Given the description of an element on the screen output the (x, y) to click on. 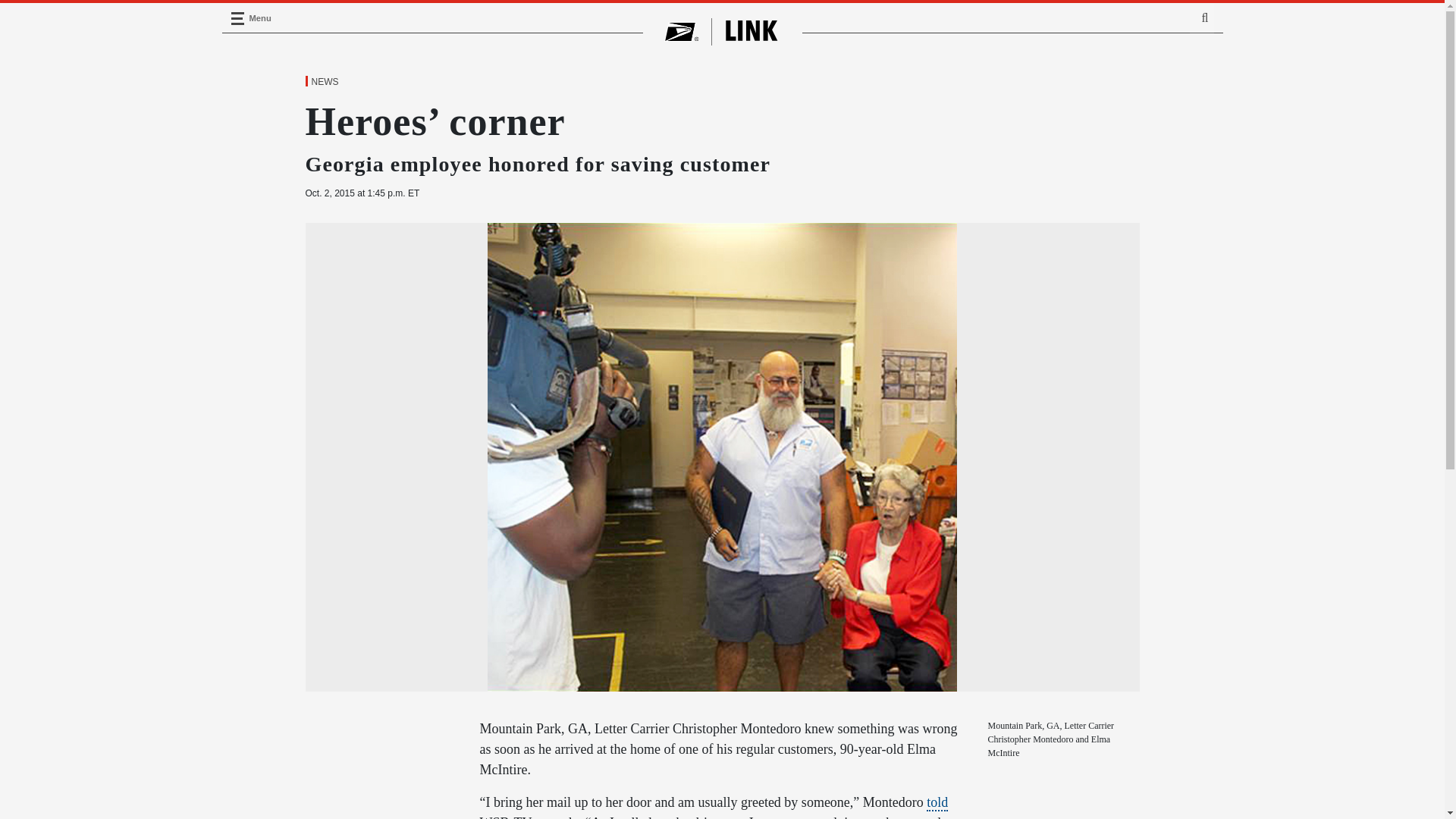
NEWS (323, 81)
Menu (237, 18)
told (936, 802)
